Given the description of an element on the screen output the (x, y) to click on. 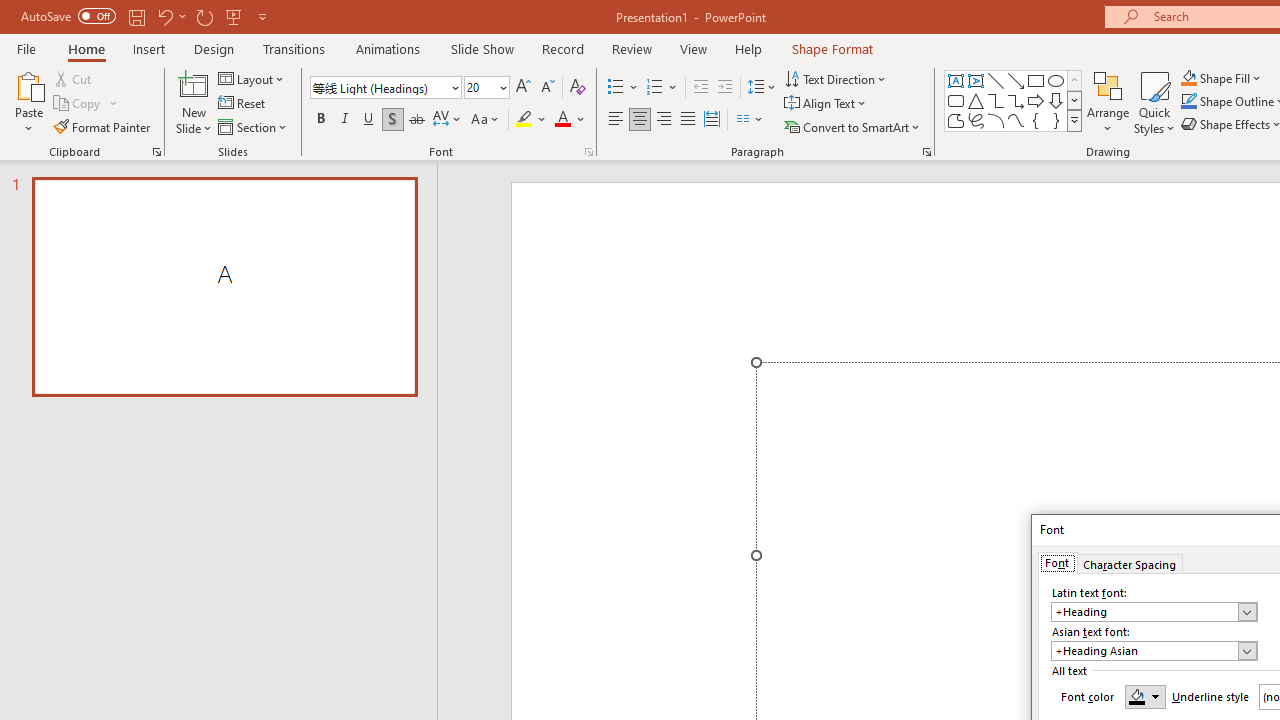
Latin text font (1144, 611)
